Given the description of an element on the screen output the (x, y) to click on. 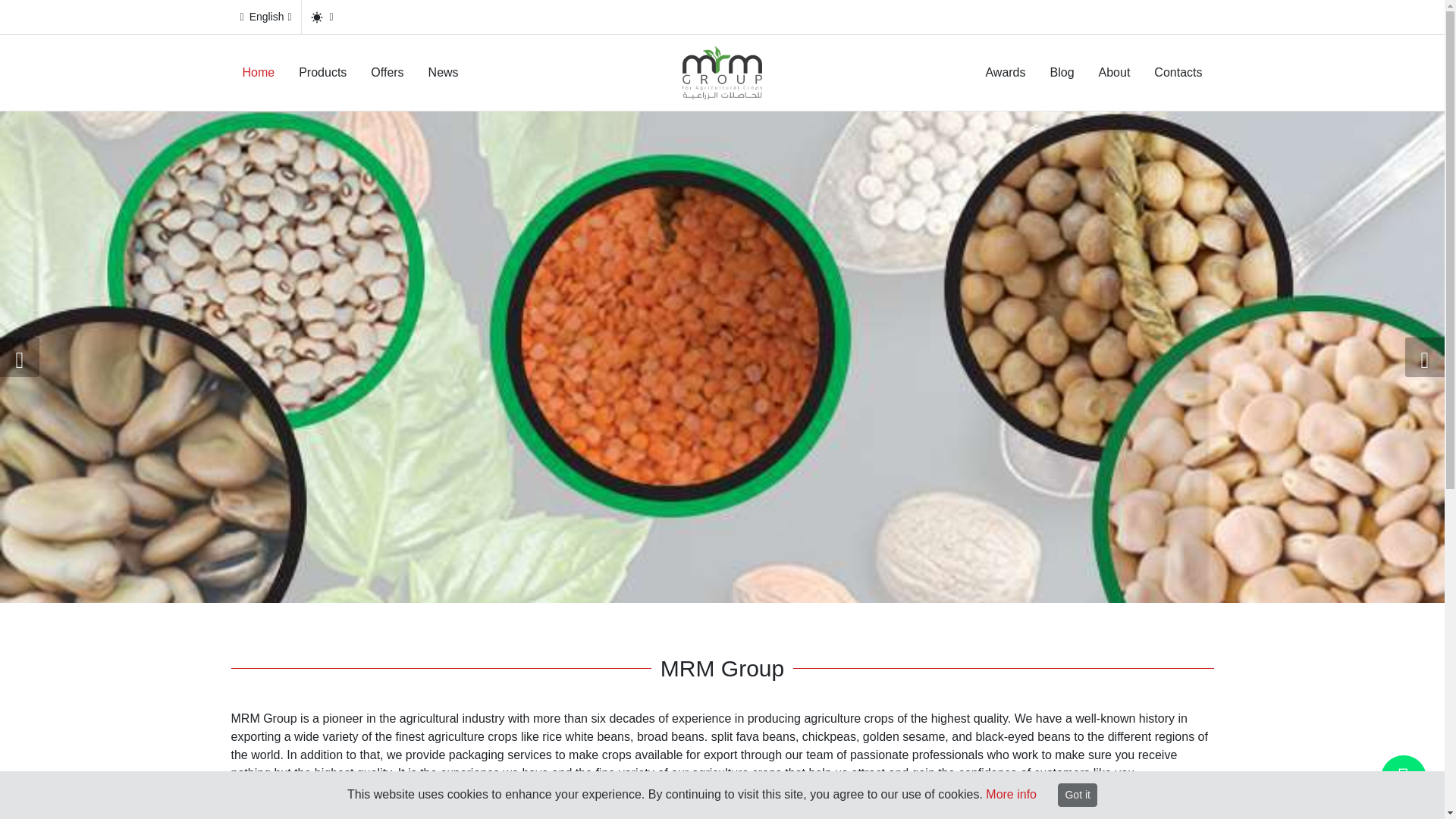
More info (1010, 793)
Got it (1077, 794)
Products (322, 72)
English (264, 17)
Contacts (1177, 72)
